Given the description of an element on the screen output the (x, y) to click on. 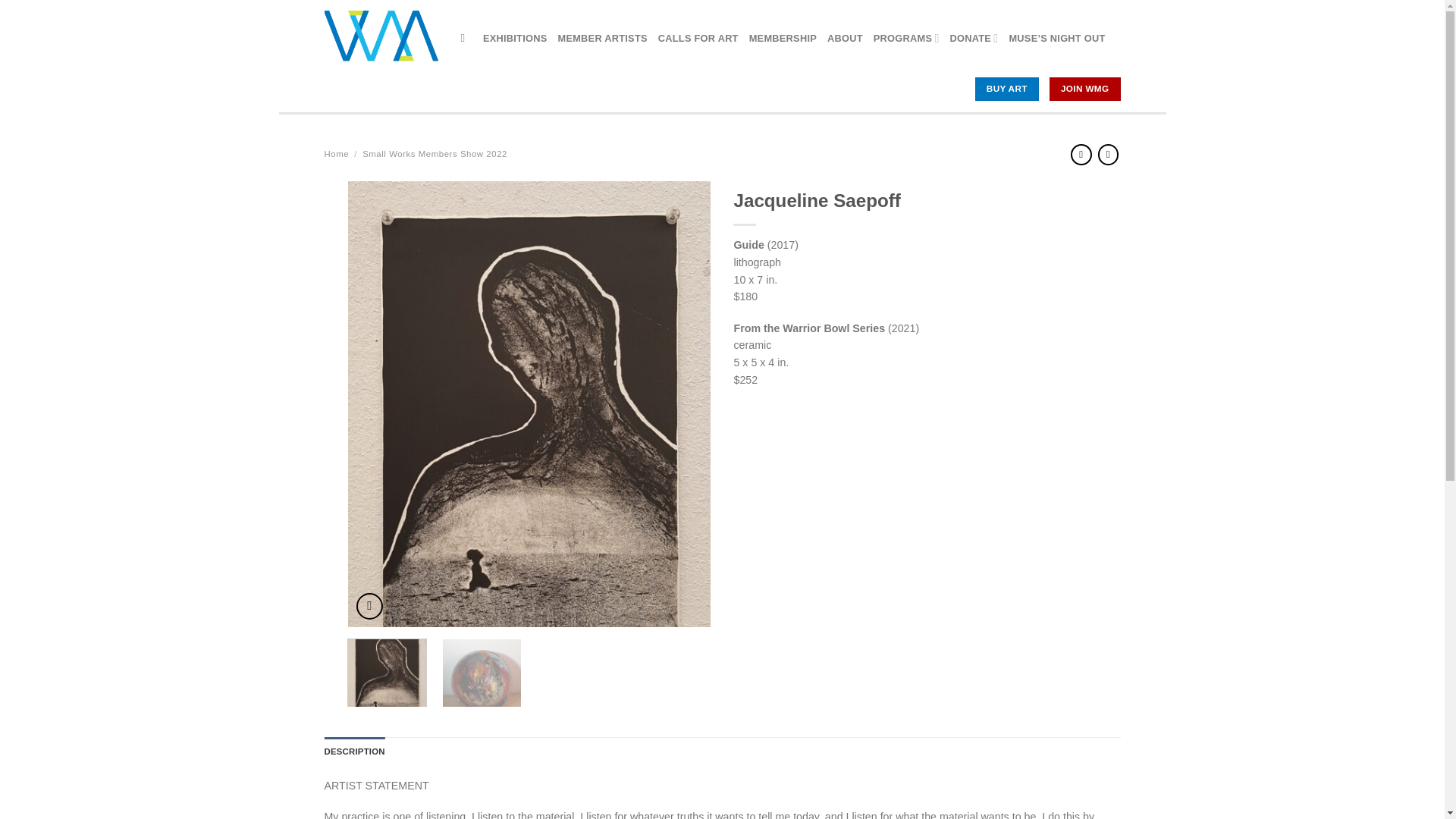
Home (336, 153)
MEMBERSHIP (782, 37)
ABOUT (845, 37)
Small Works Members Show 2022 (434, 153)
CALLS FOR ART (698, 37)
EXHIBITIONS (515, 37)
MEMBER ARTISTS (601, 37)
Zoom (369, 605)
